Given the description of an element on the screen output the (x, y) to click on. 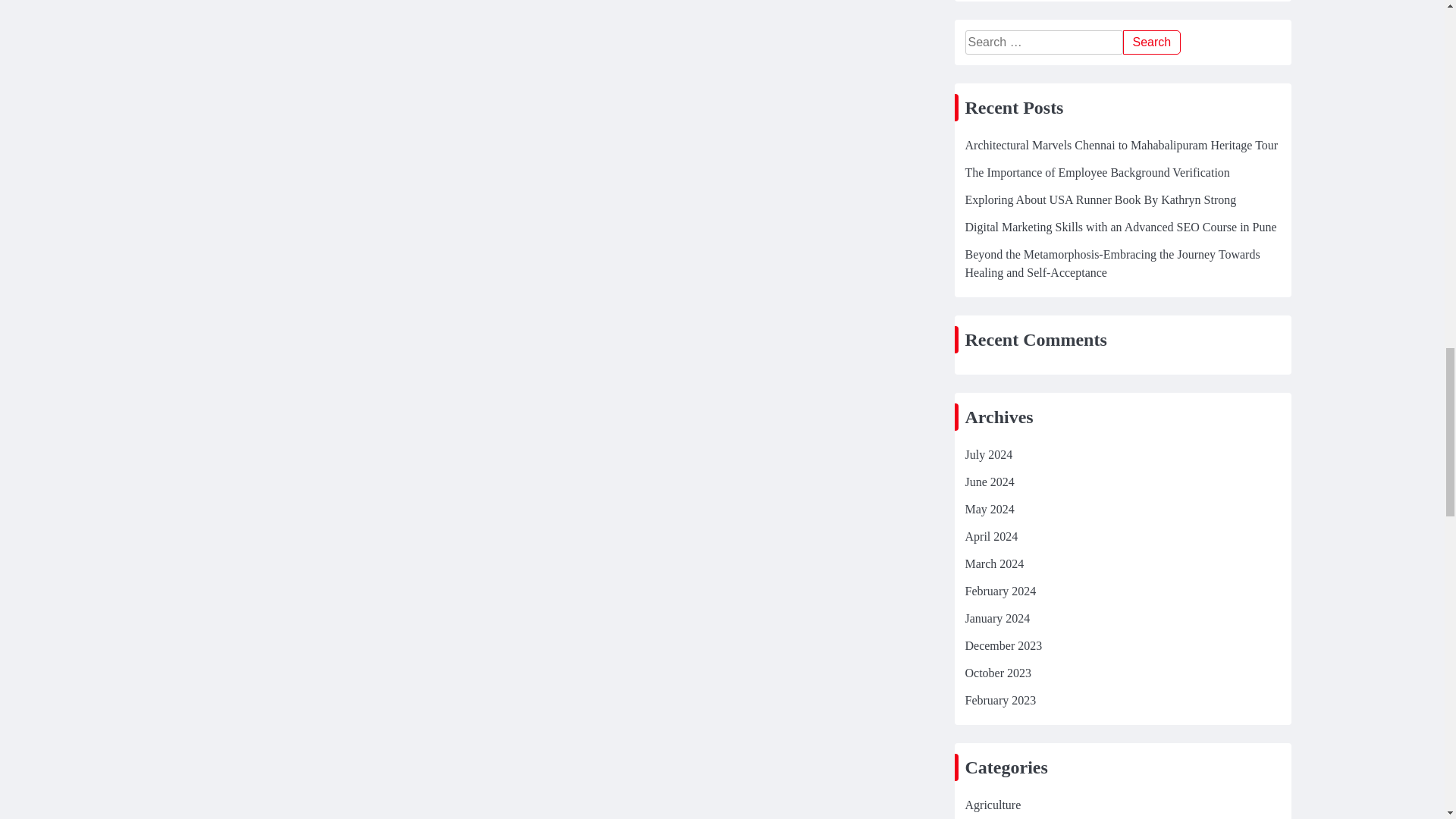
Search (1151, 42)
Search (1151, 42)
